Given the description of an element on the screen output the (x, y) to click on. 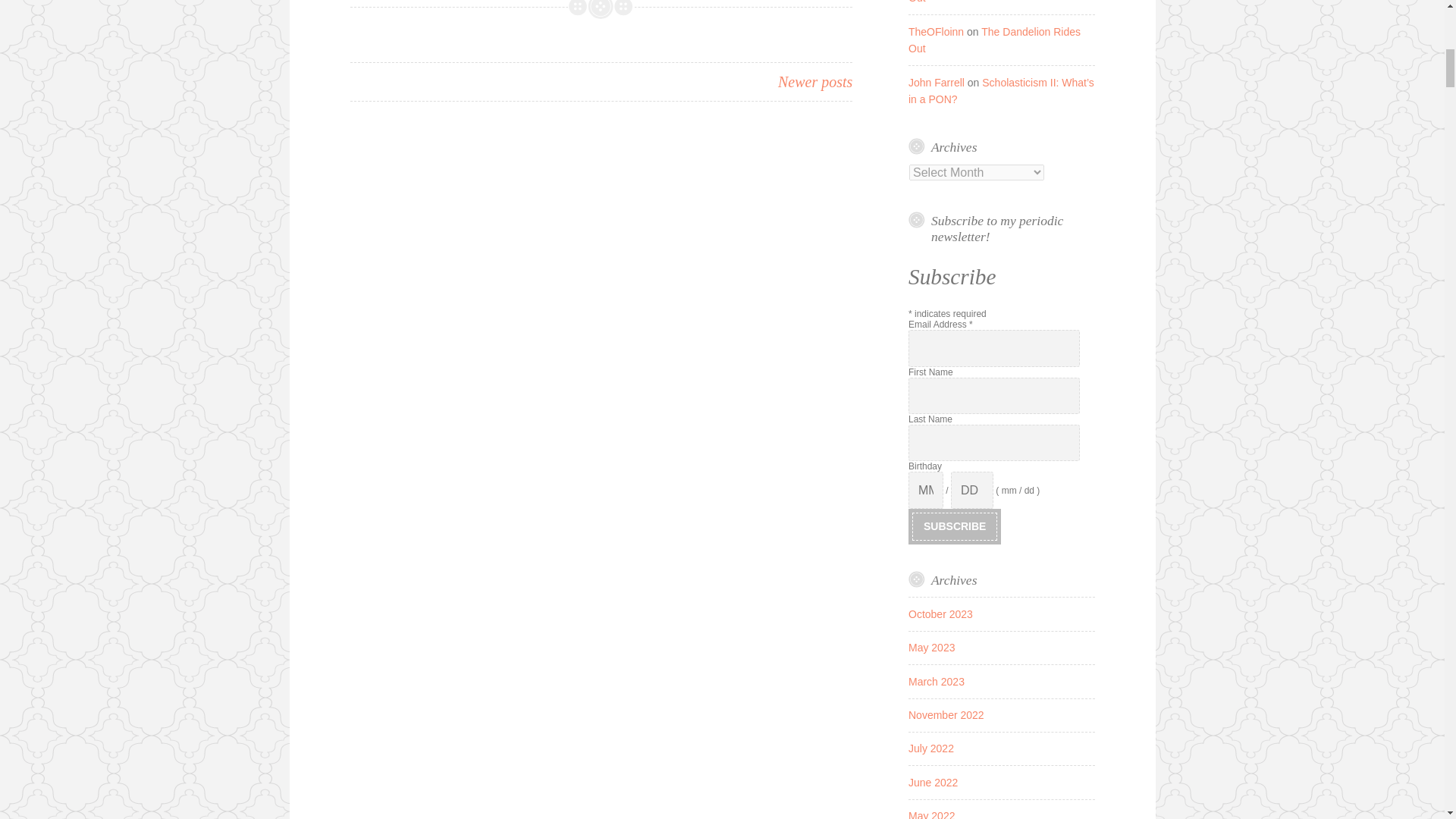
Newer posts (814, 80)
John Farrell (935, 82)
The Dandelion Rides Out (994, 2)
May 2023 (931, 647)
Subscribe (954, 526)
March 2023 (935, 681)
October 2023 (940, 613)
TheOFloinn (935, 31)
Subscribe (954, 526)
The Dandelion Rides Out (994, 39)
